Given the description of an element on the screen output the (x, y) to click on. 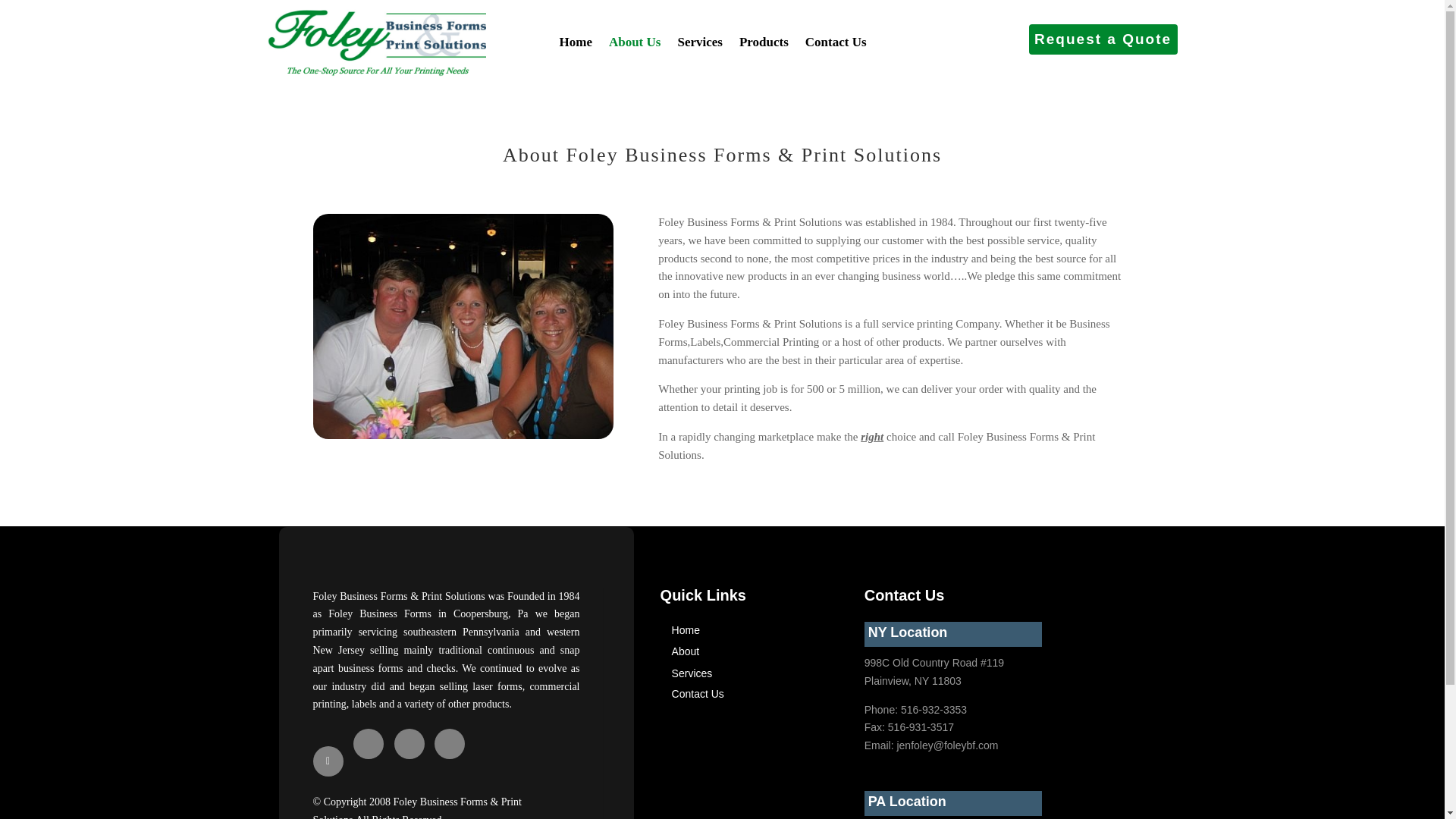
Home (685, 630)
Request a Quote (1103, 39)
About Us (634, 41)
Contact Us (835, 41)
Home (575, 41)
About (685, 651)
Services (692, 673)
beach1 (462, 325)
Products (764, 41)
Contact Us (697, 693)
Services (699, 41)
Home (685, 630)
